Given the description of an element on the screen output the (x, y) to click on. 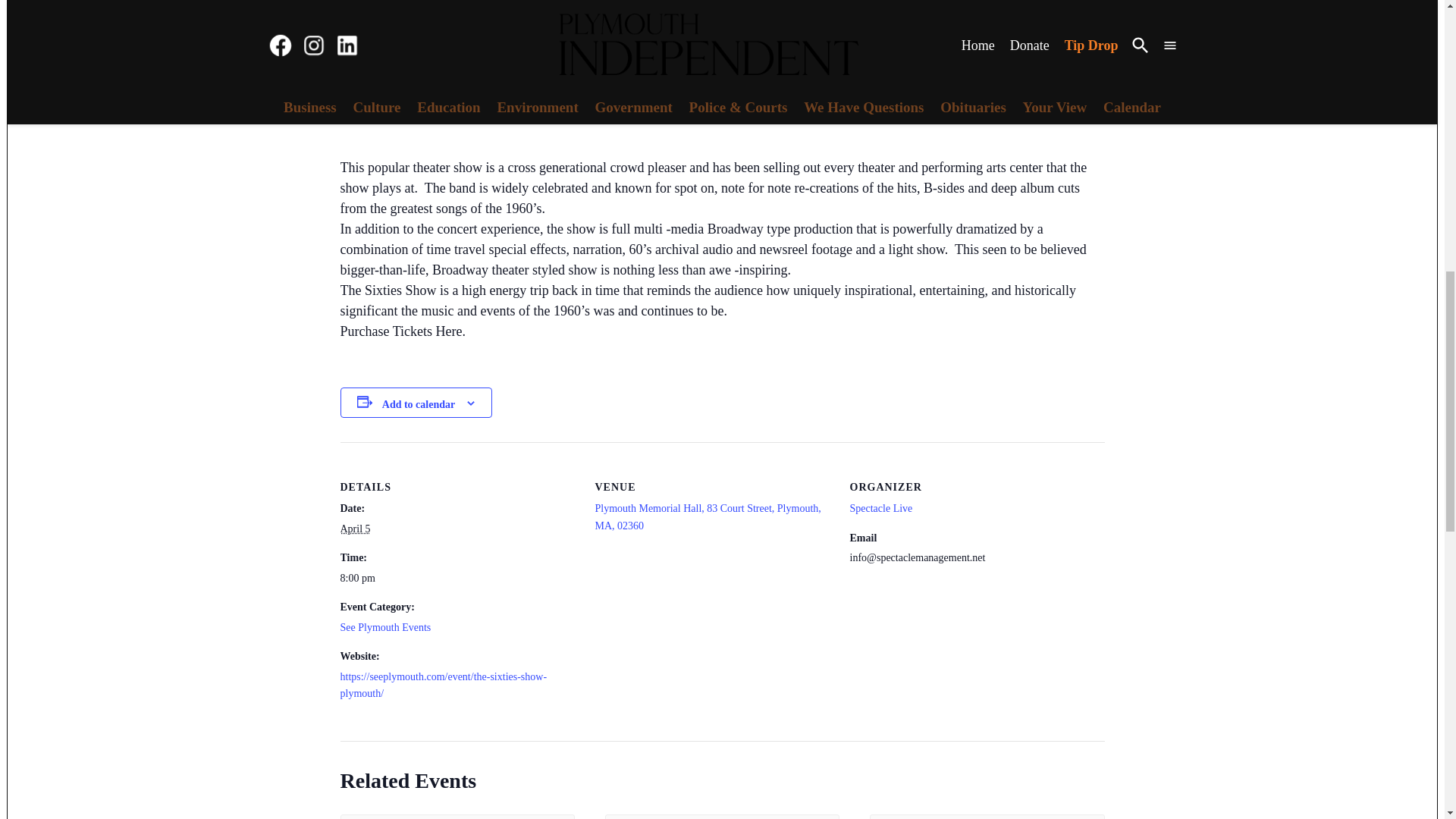
Spectacle Live (880, 508)
2024-04-05 (457, 578)
2024-04-05 (354, 528)
